Given the description of an element on the screen output the (x, y) to click on. 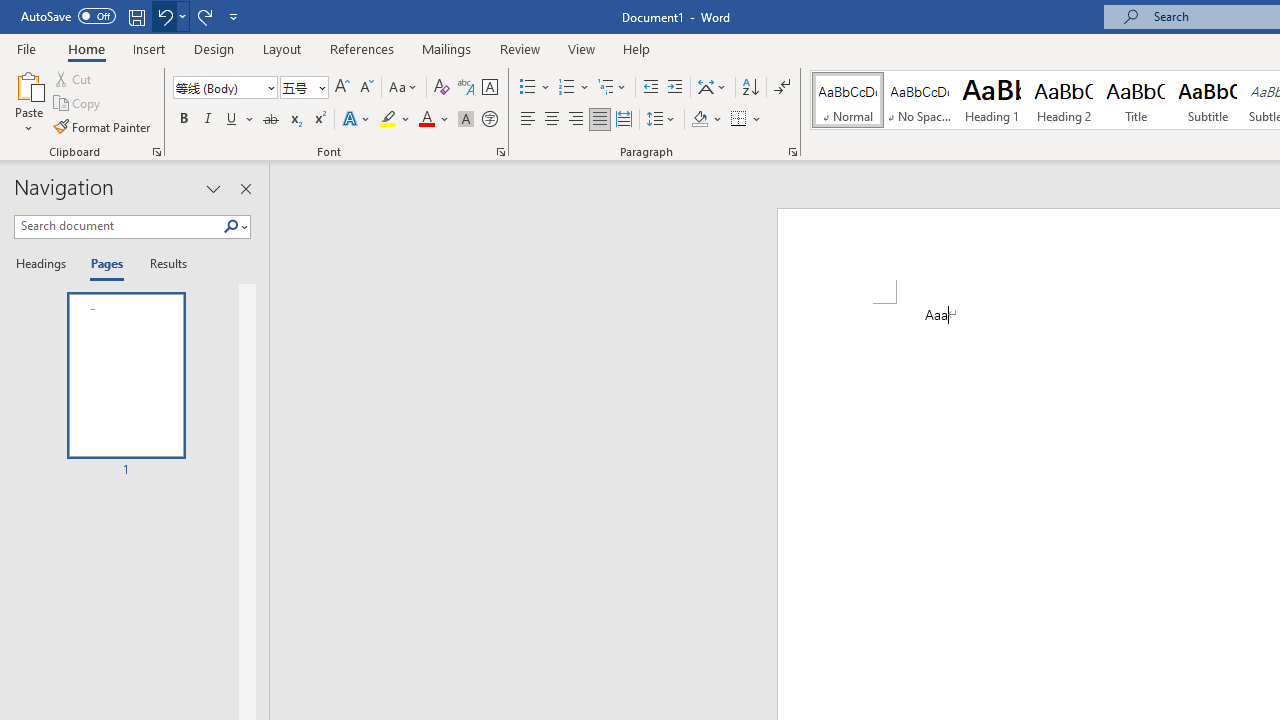
Superscript (319, 119)
Heading 1 (991, 100)
Heading 2 (1063, 100)
Cut (73, 78)
Strikethrough (270, 119)
Results (161, 264)
Font Color (434, 119)
Font Color Red (426, 119)
Distributed (623, 119)
Pages (105, 264)
Undo Increase Indent (170, 15)
